Given the description of an element on the screen output the (x, y) to click on. 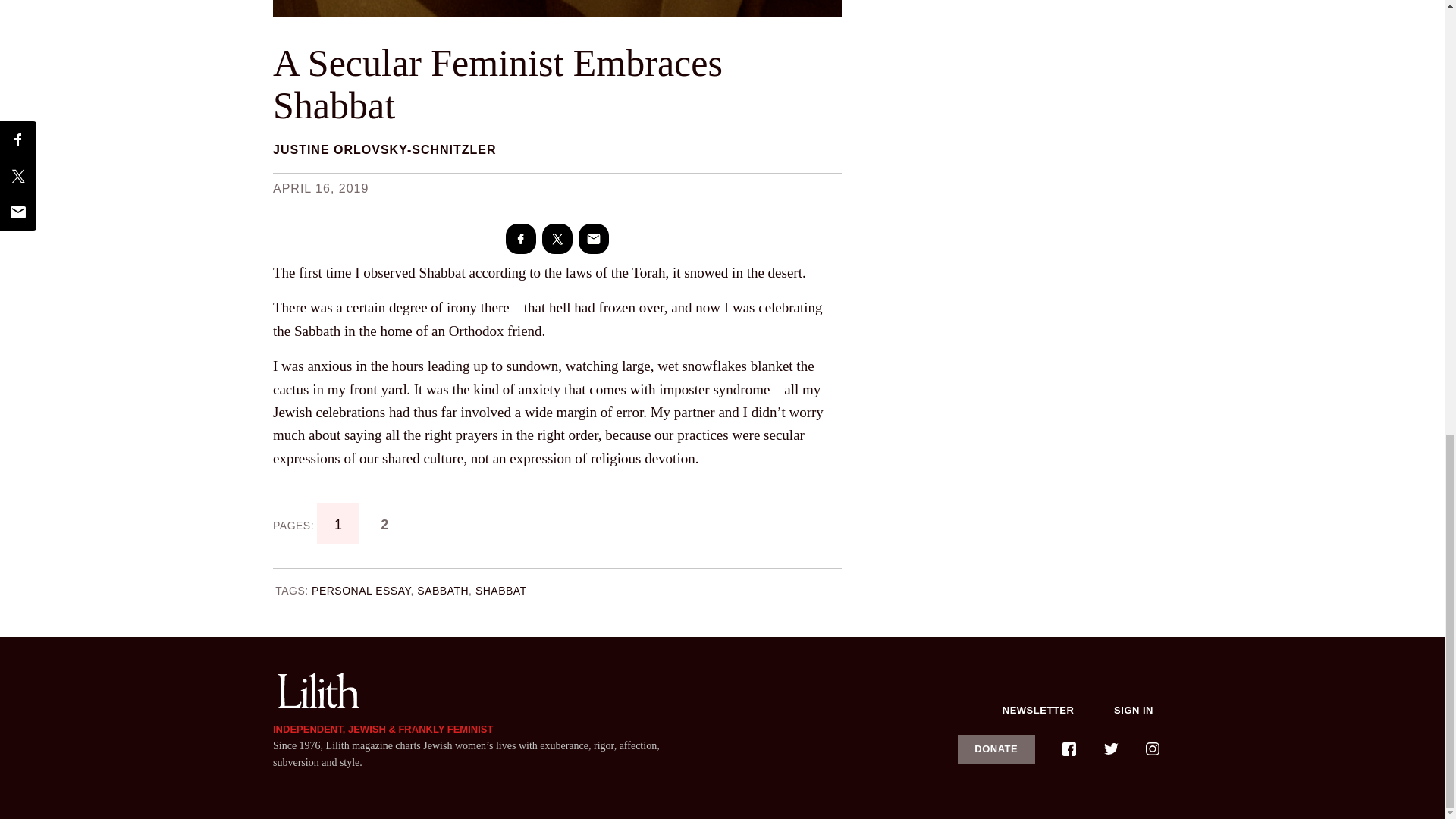
PERSONAL ESSAY (360, 590)
DONATE (996, 748)
SHABBAT (501, 590)
SIGN IN (1134, 710)
Posts by Justine Orlovsky-Schnitzler (384, 149)
SABBATH (442, 590)
2 (385, 523)
JUSTINE ORLOVSKY-SCHNITZLER (384, 149)
NEWSLETTER (1038, 710)
